Given the description of an element on the screen output the (x, y) to click on. 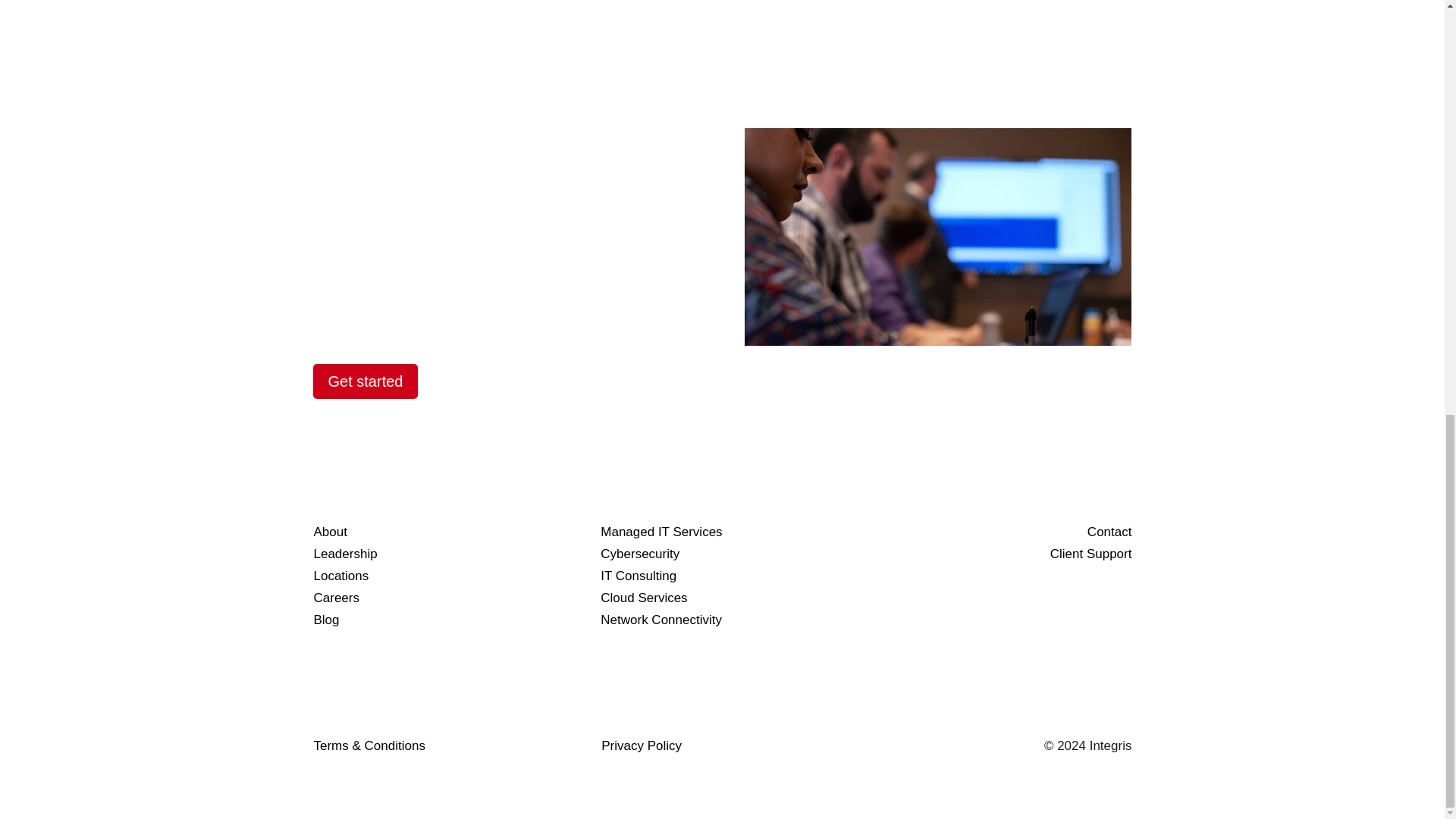
About (330, 531)
Cybersecurity (639, 554)
Careers (336, 597)
Get started (365, 380)
Blog (326, 619)
austin-team-meeting-discussion (937, 236)
Leadership (345, 554)
Managed IT Services (660, 531)
Locations (341, 575)
